Given the description of an element on the screen output the (x, y) to click on. 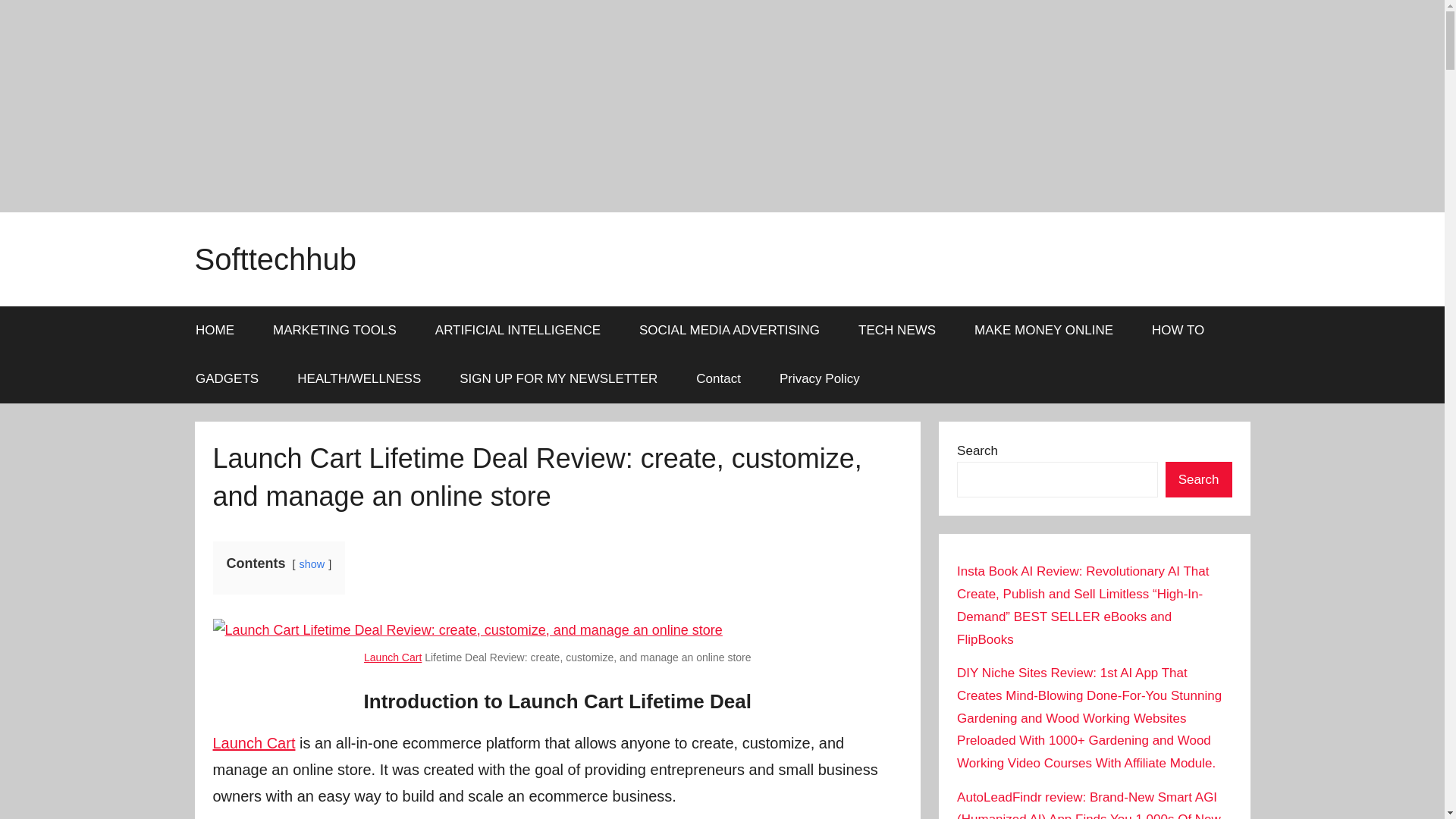
Launch Cart (393, 657)
SIGN UP FOR MY NEWSLETTER (559, 378)
ARTIFICIAL INTELLIGENCE (517, 330)
Privacy Policy (819, 378)
Launch Cart (253, 742)
Contact (718, 378)
TECH NEWS (897, 330)
Softtechhub (274, 259)
show (311, 563)
